Given the description of an element on the screen output the (x, y) to click on. 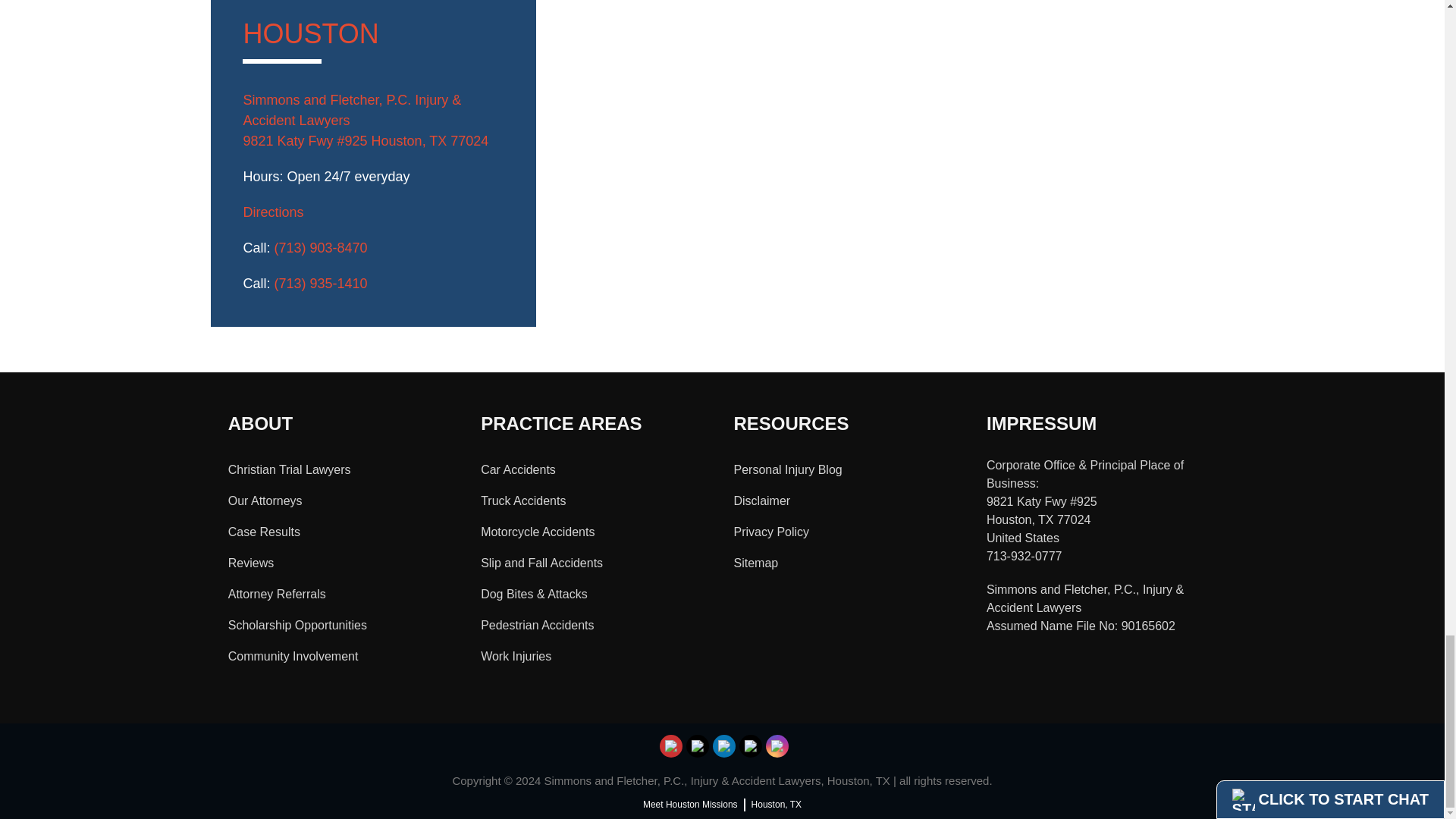
YouTube (671, 745)
LinkedIn (723, 745)
Instagram (777, 745)
Tiktok (697, 745)
